Given the description of an element on the screen output the (x, y) to click on. 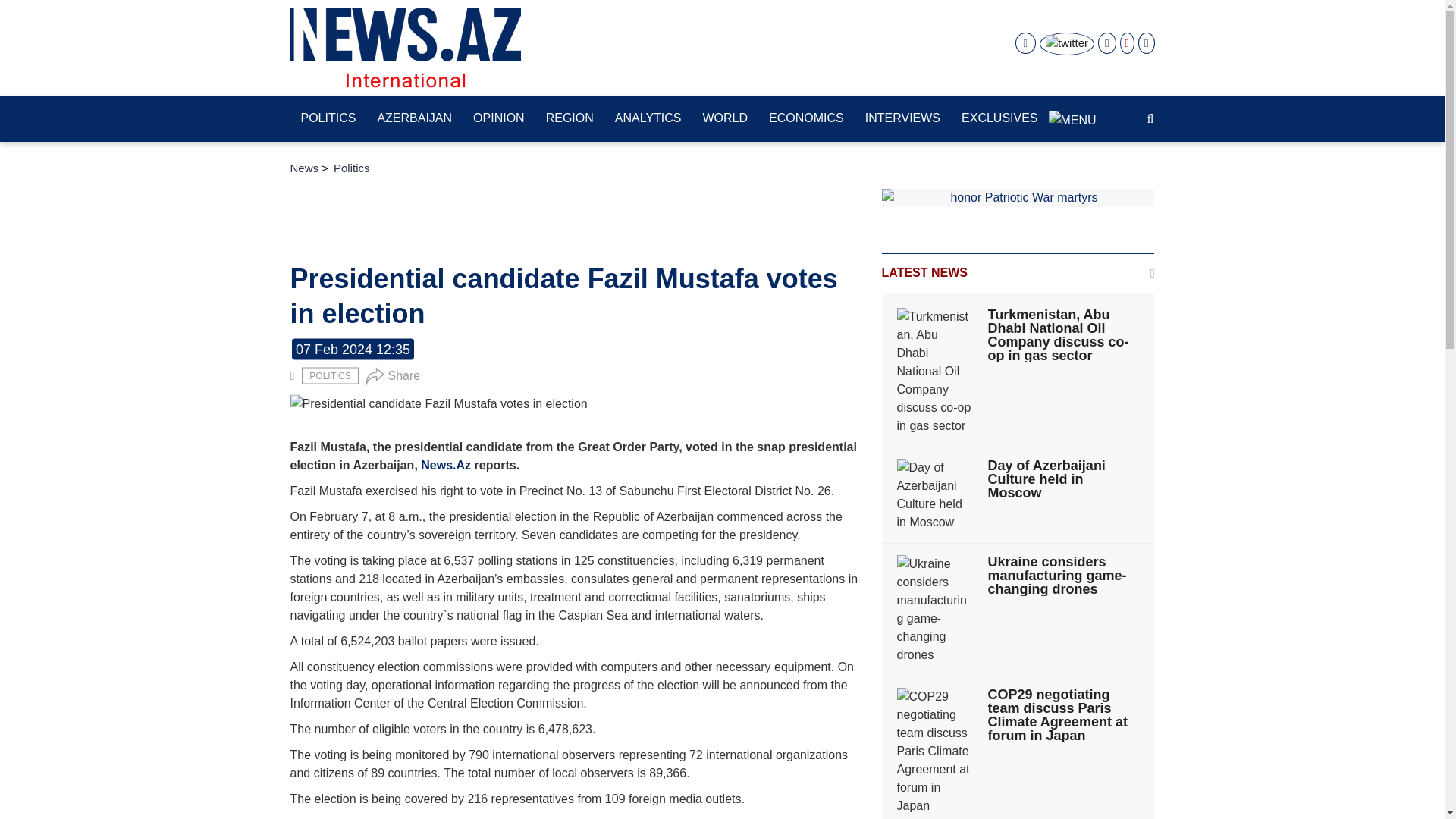
07 Feb 2024 12:35 (352, 349)
AZERBAIJAN (414, 119)
OPINION (499, 119)
youtube (1126, 43)
News.az (404, 47)
ECONOMICS (806, 119)
Exclusives (999, 119)
POLITICS (329, 375)
EXCLUSIVES (999, 119)
News (303, 167)
News.Az (313, 818)
Menu (1072, 112)
WORLD (725, 119)
instagram (1106, 43)
POLITICS (327, 119)
